Given the description of an element on the screen output the (x, y) to click on. 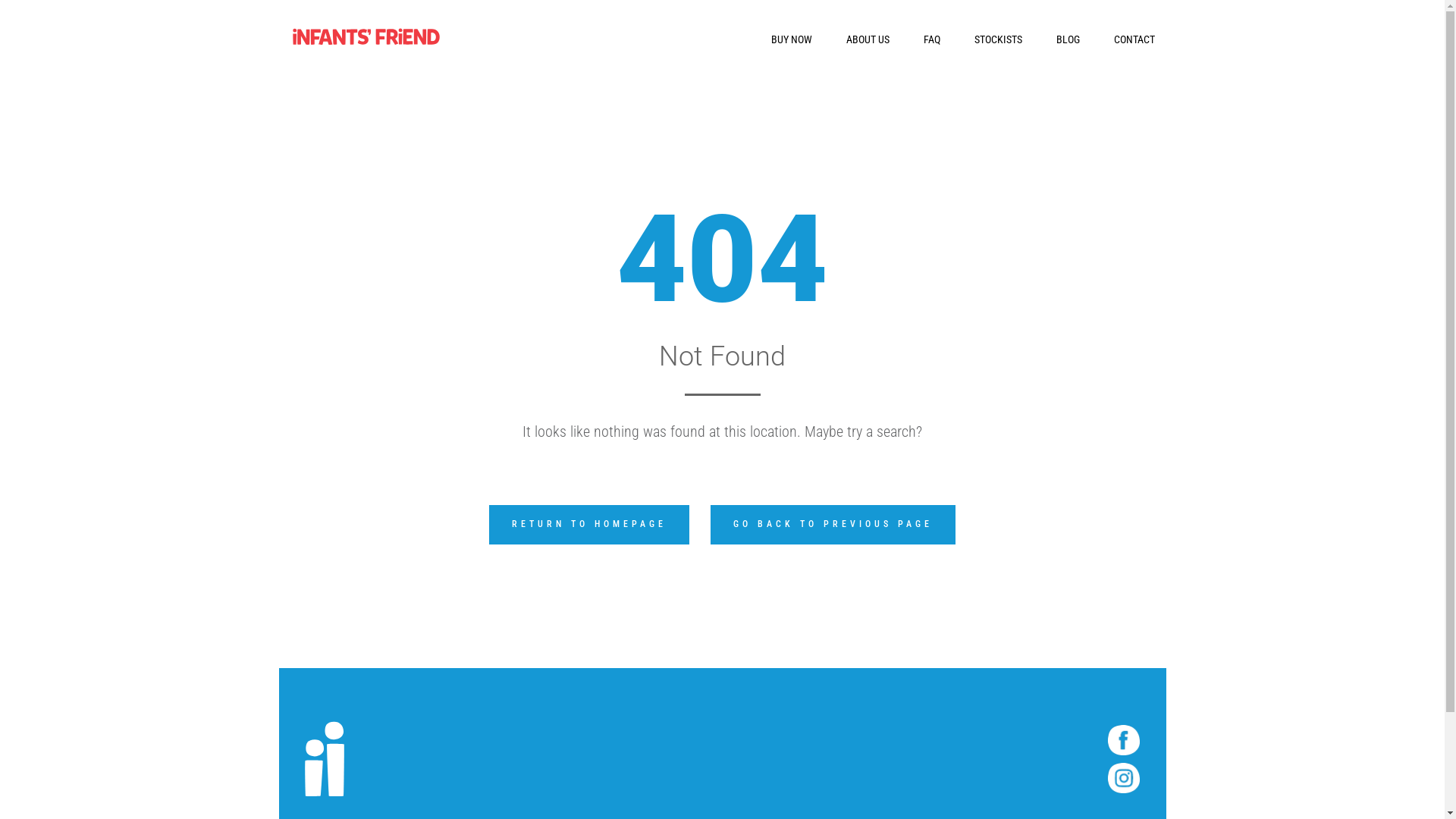
ii-small Element type: hover (324, 759)
ABOUT US Element type: text (867, 39)
RETURN TO HOMEPAGE Element type: text (589, 524)
instagram Element type: hover (1123, 777)
GO BACK TO PREVIOUS PAGE Element type: text (832, 524)
STOCKISTS Element type: text (997, 39)
BUY NOW Element type: text (790, 39)
CONTACT Element type: text (1133, 39)
facebook Element type: hover (1123, 739)
BLOG Element type: text (1067, 39)
FAQ Element type: text (931, 39)
